Given the description of an element on the screen output the (x, y) to click on. 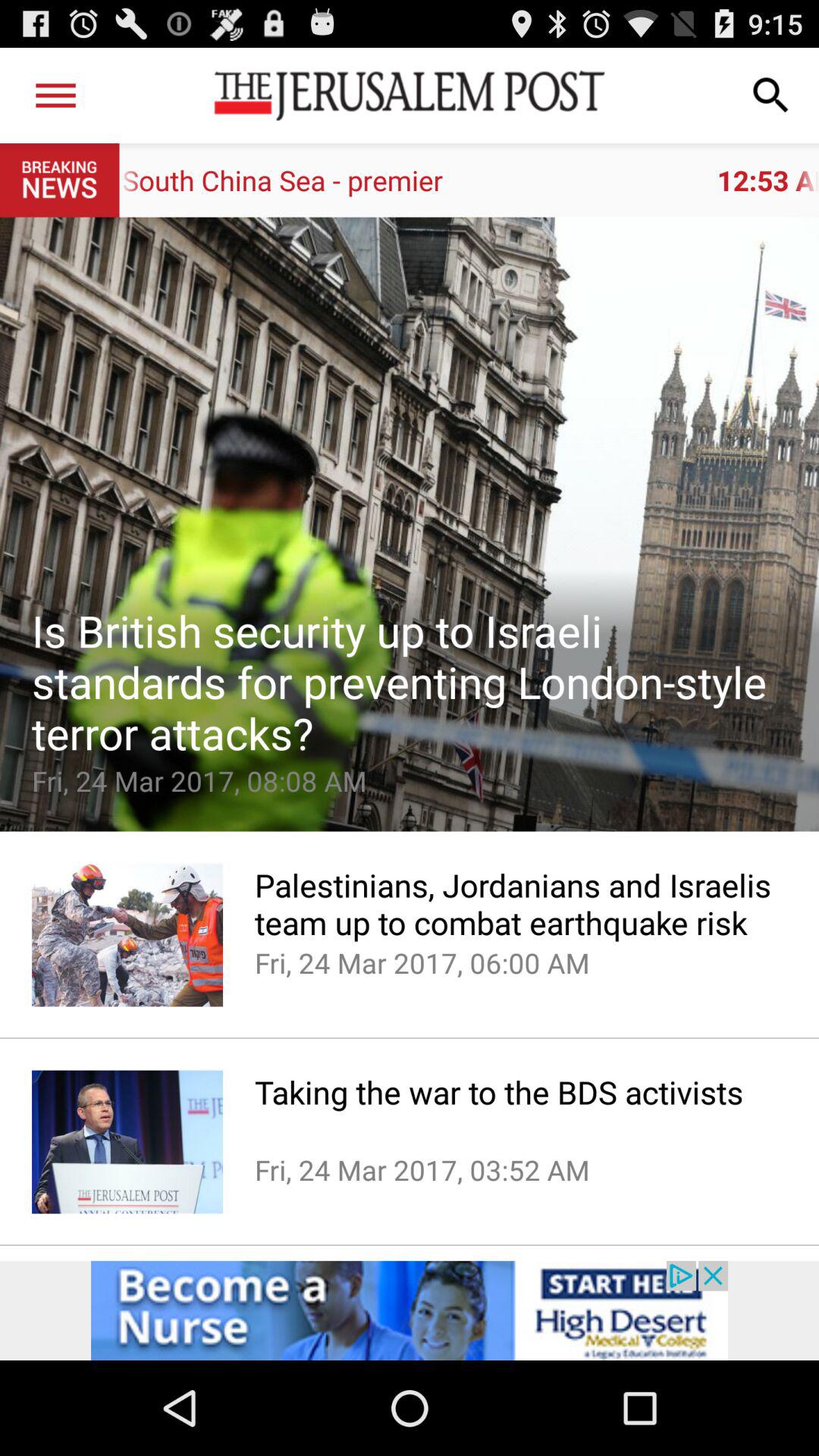
search (771, 95)
